Given the description of an element on the screen output the (x, y) to click on. 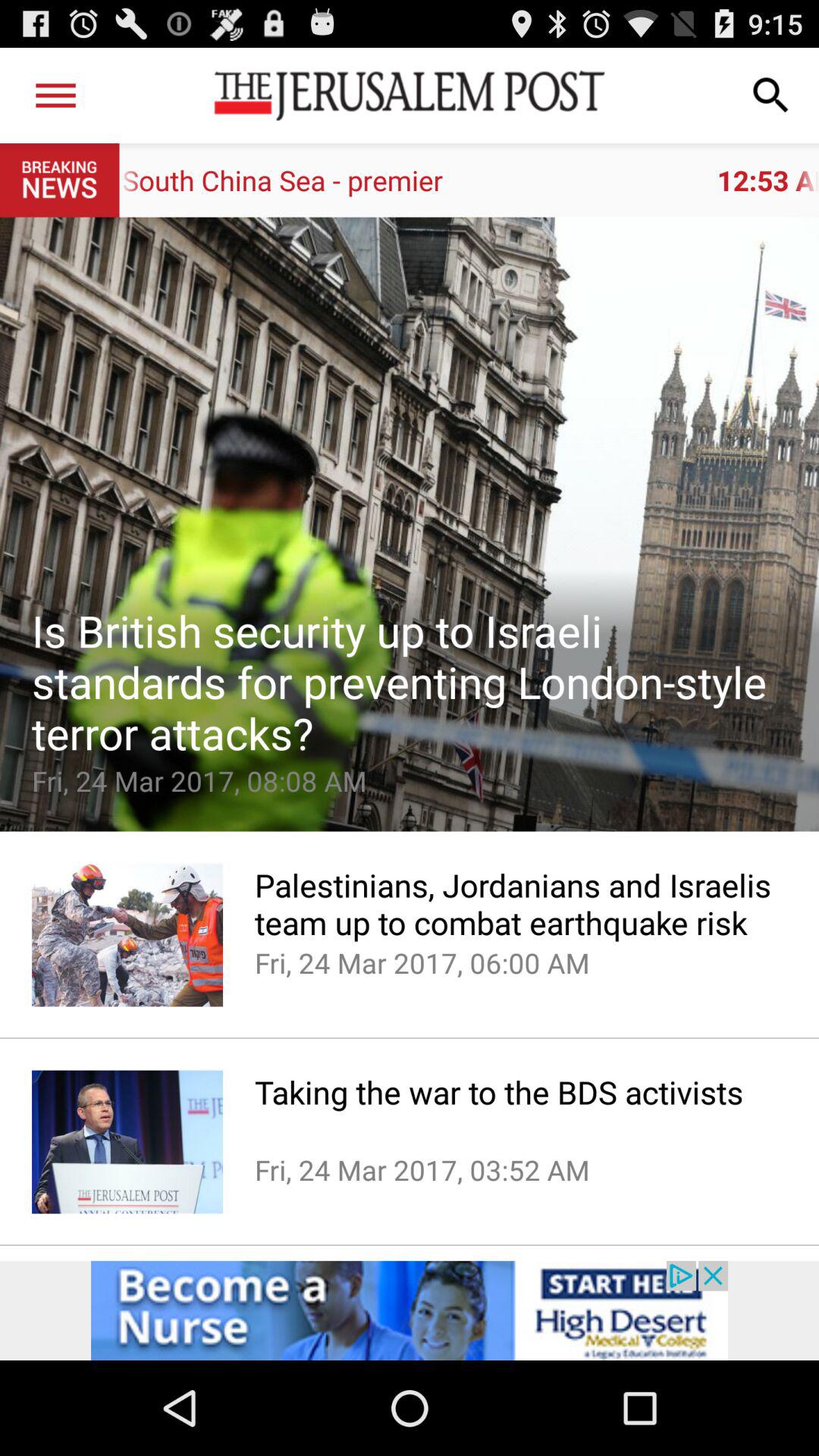
search (771, 95)
